Given the description of an element on the screen output the (x, y) to click on. 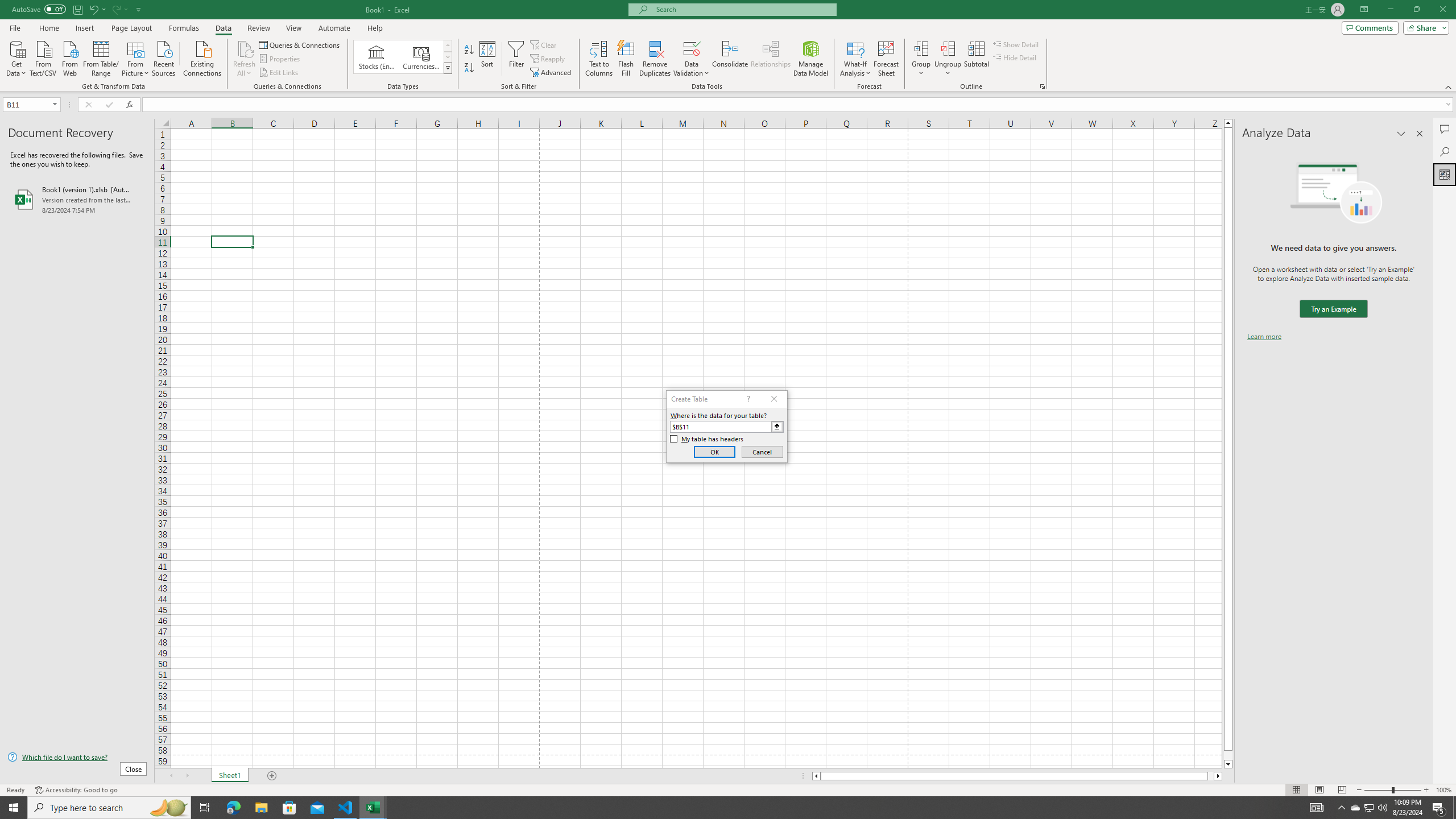
Name Box (30, 104)
Consolidate... (729, 58)
Ribbon Display Options (1364, 9)
Page Layout (131, 28)
Restore Down (1416, 9)
Scroll Left (171, 775)
Row Down (448, 56)
Save (77, 9)
Share (1423, 27)
Show Detail (1016, 44)
Close (1442, 9)
Advanced... (551, 72)
What-If Analysis (855, 58)
Data Types (448, 67)
Text to Columns... (598, 58)
